Given the description of an element on the screen output the (x, y) to click on. 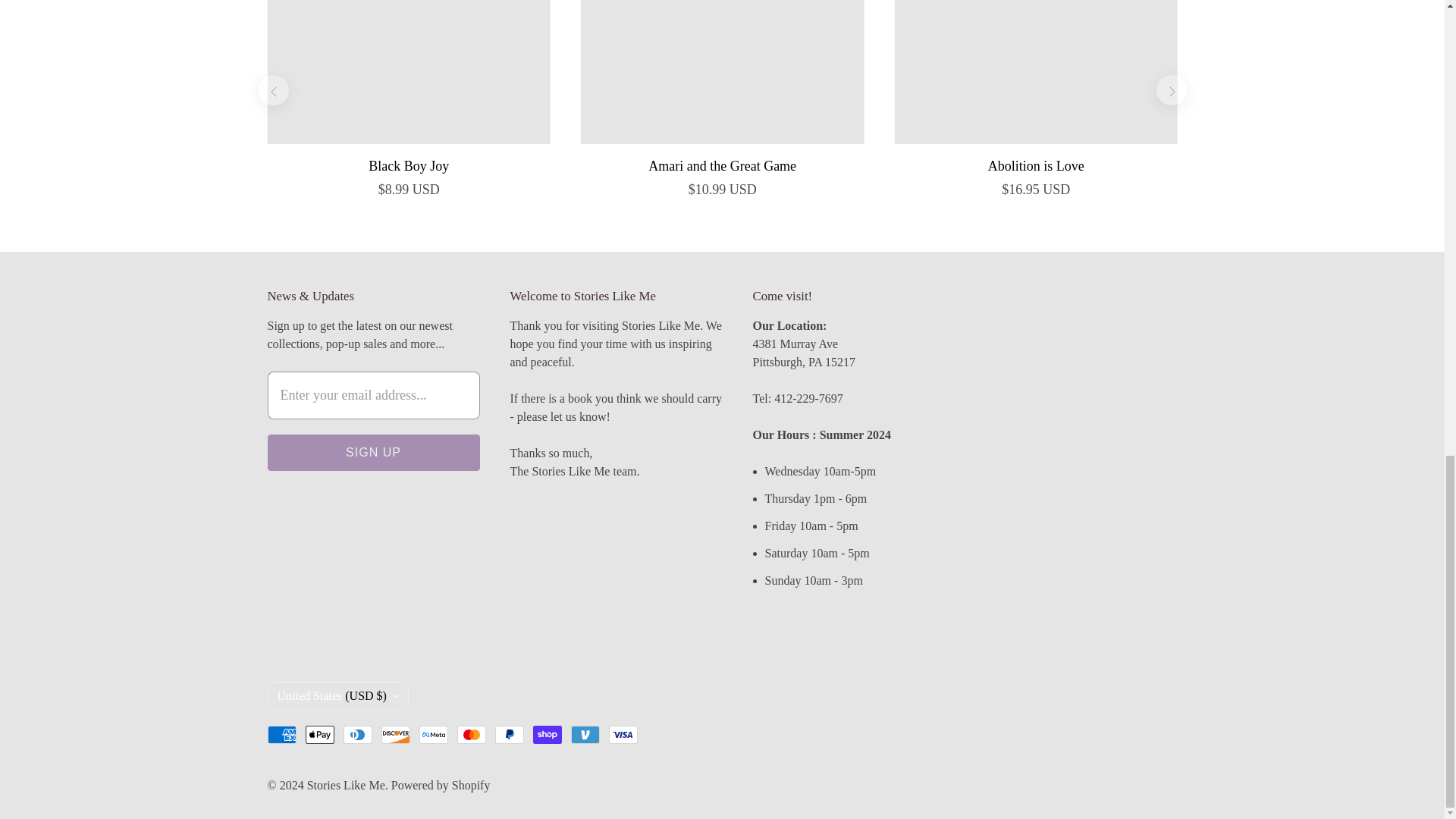
Discover (394, 734)
Visa (622, 734)
Sign Up (372, 452)
Mastercard (470, 734)
American Express (280, 734)
Diners Club (356, 734)
Apple Pay (318, 734)
Venmo (584, 734)
Shop Pay (546, 734)
Meta Pay (432, 734)
